Given the description of an element on the screen output the (x, y) to click on. 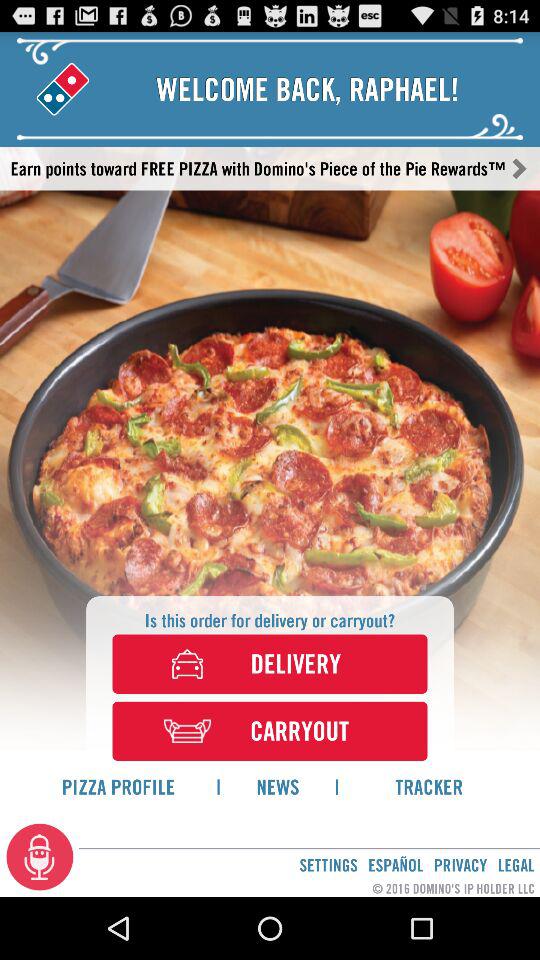
click icon to the left of the settings icon (40, 856)
